Given the description of an element on the screen output the (x, y) to click on. 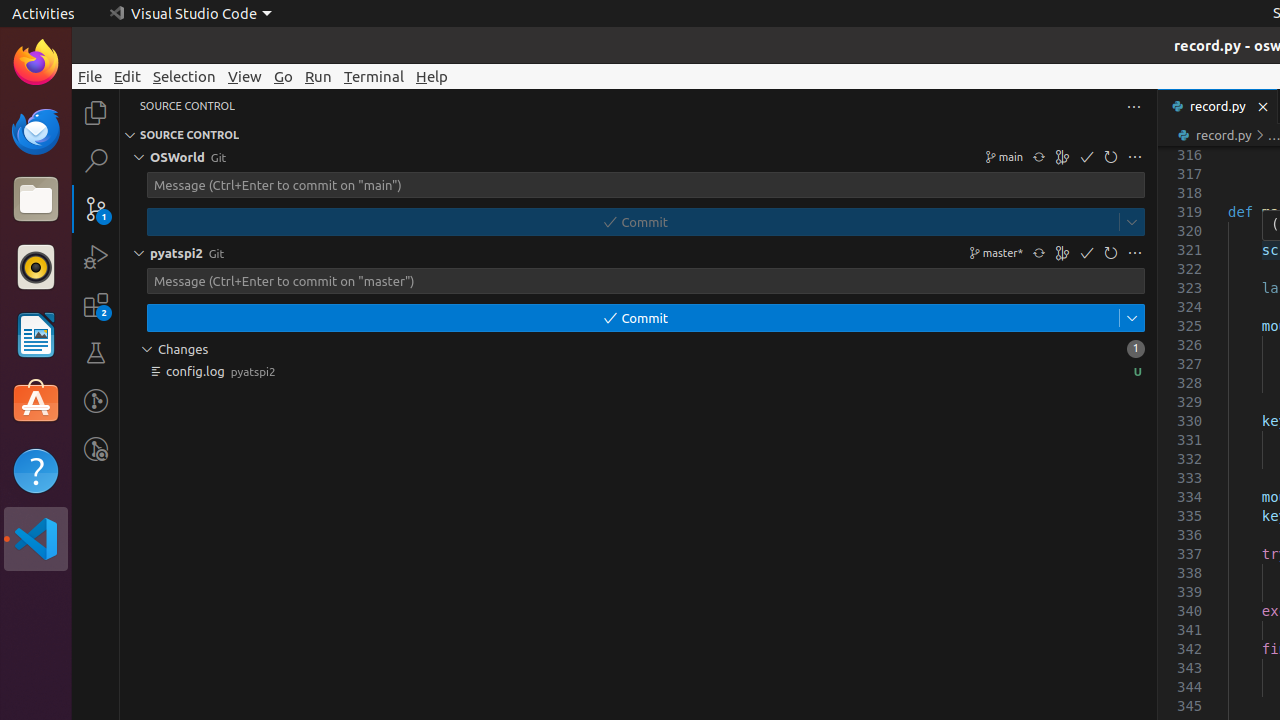
View Element type: push-button (245, 76)
Go Element type: push-button (283, 76)
 Commit Element type: push-button (633, 221)
